Given the description of an element on the screen output the (x, y) to click on. 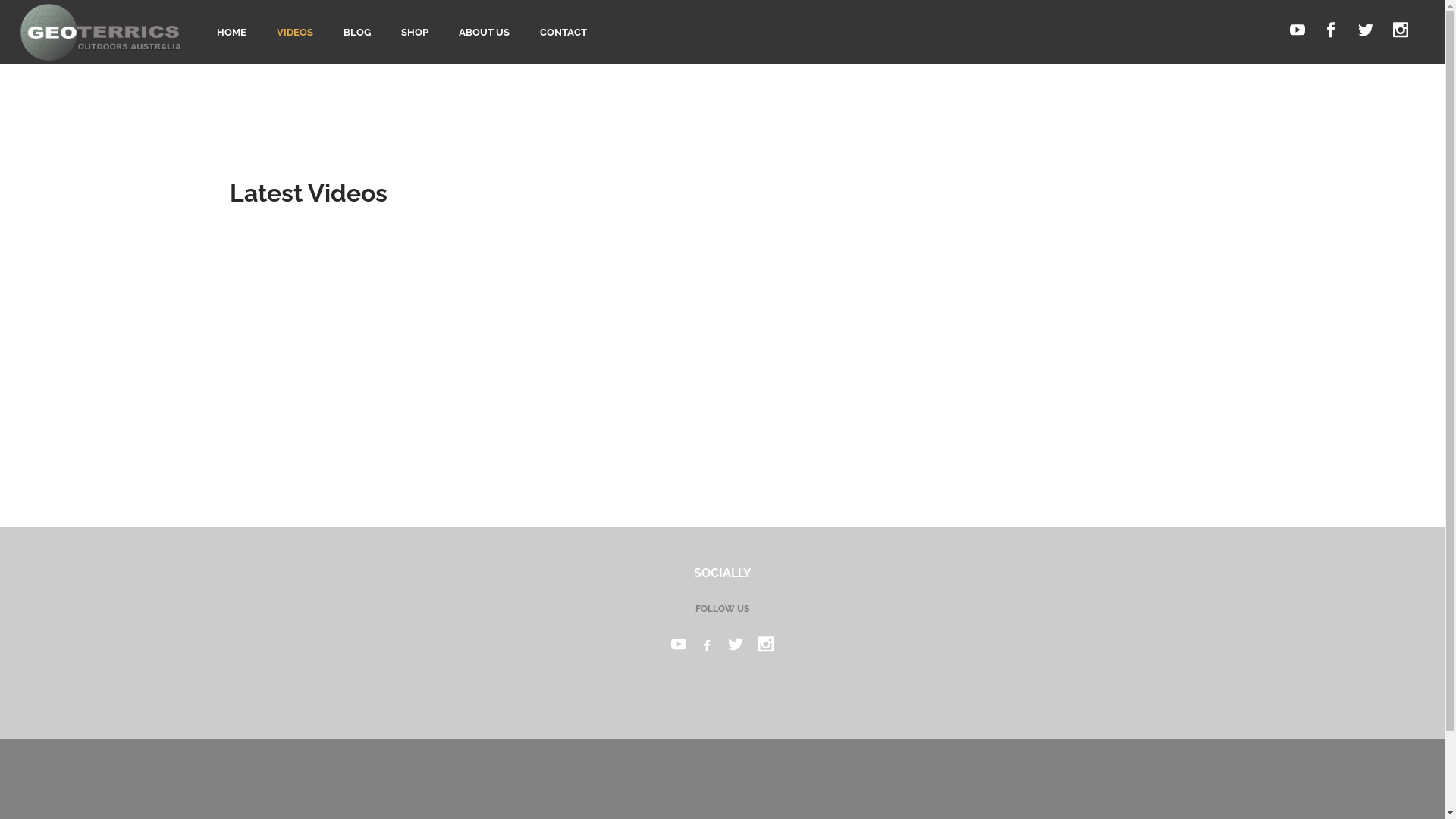
CONTACT Element type: text (563, 32)
HOME Element type: text (231, 32)
ABOUT US Element type: text (483, 32)
VIDEOS Element type: text (294, 32)
GEOTERRICS Element type: text (725, 708)
SHOP Element type: text (414, 32)
BLOG Element type: text (356, 32)
